Given the description of an element on the screen output the (x, y) to click on. 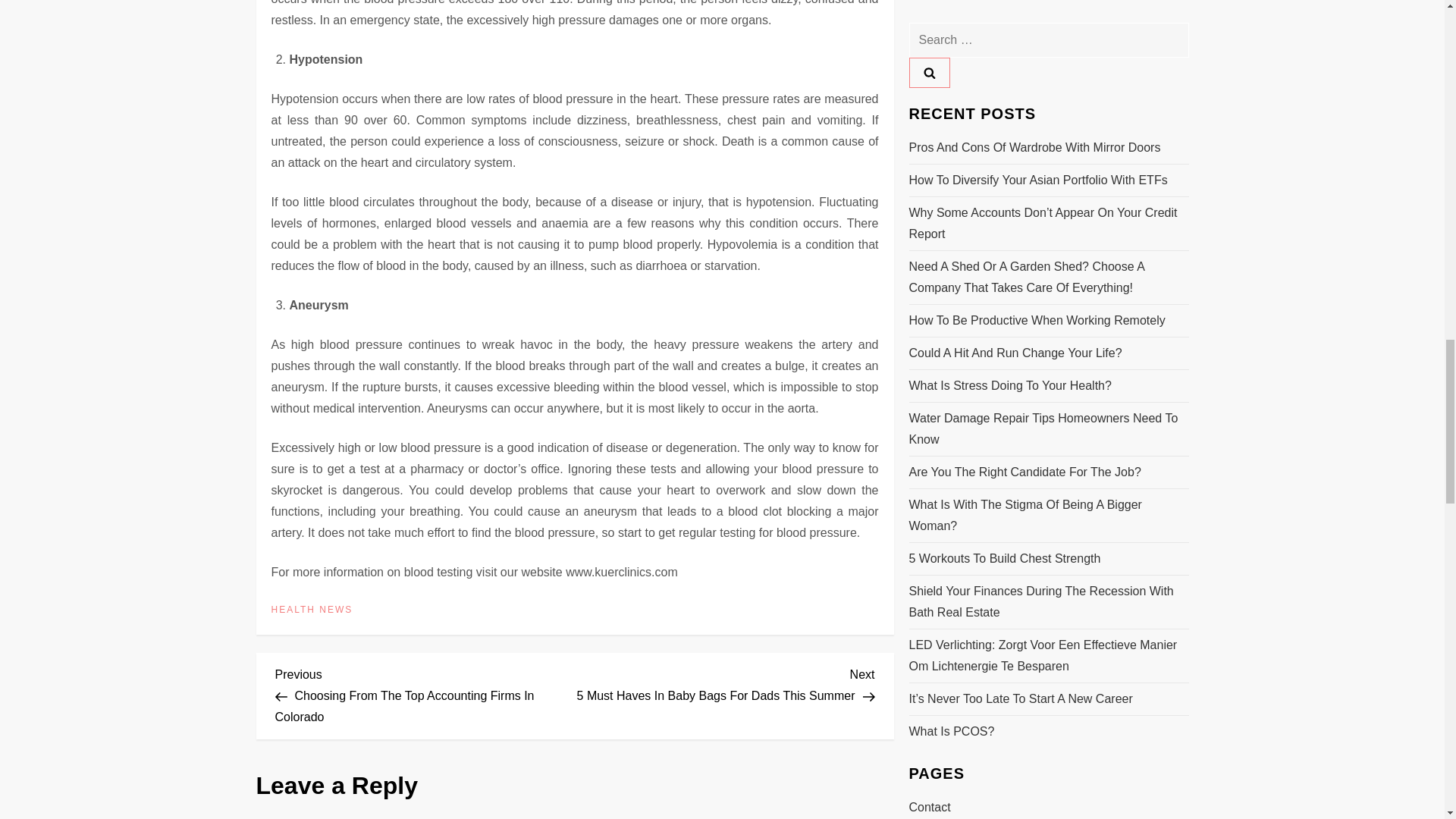
HEALTH NEWS (311, 610)
